Given the description of an element on the screen output the (x, y) to click on. 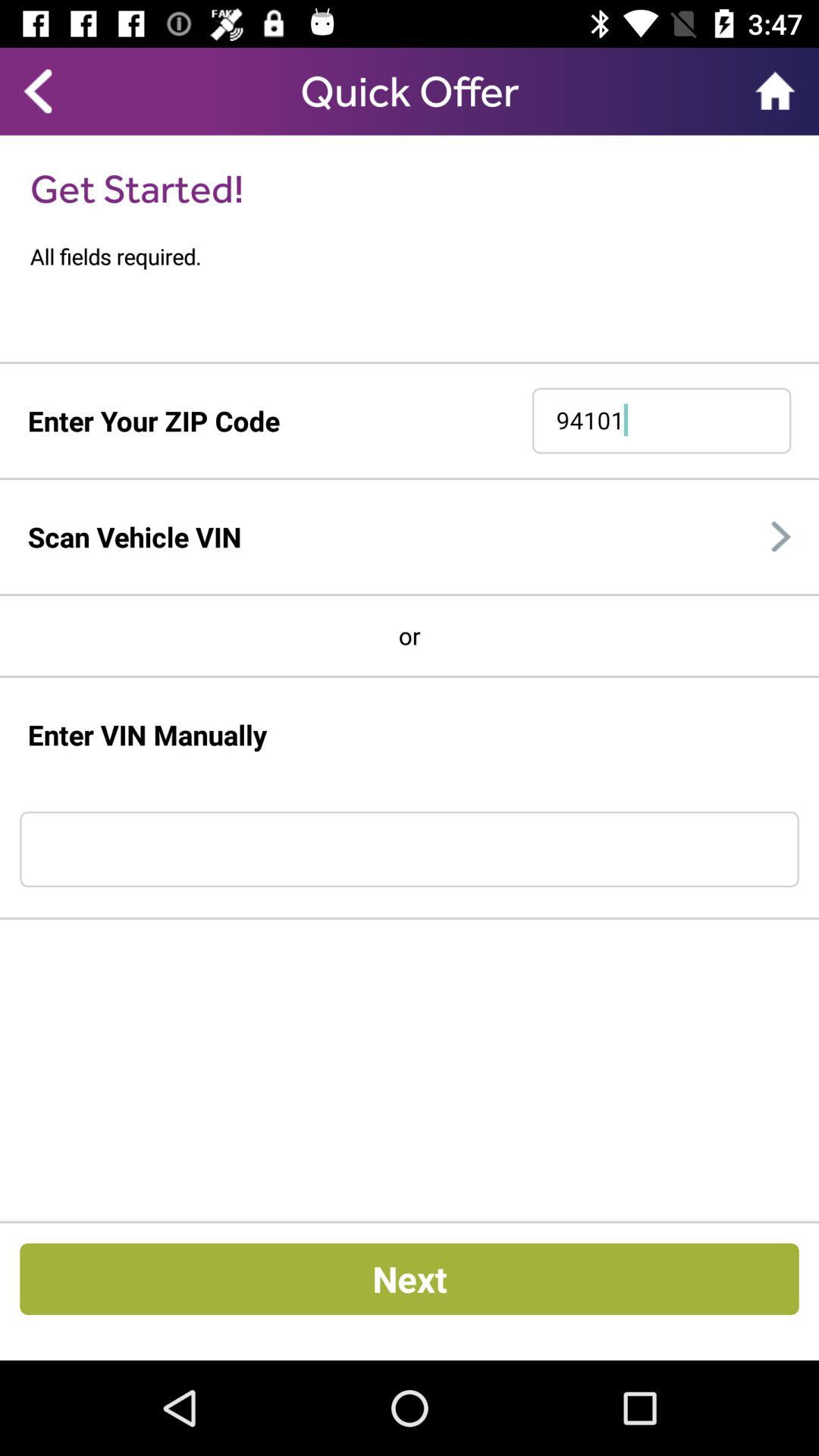
type the text bar (409, 849)
